Given the description of an element on the screen output the (x, y) to click on. 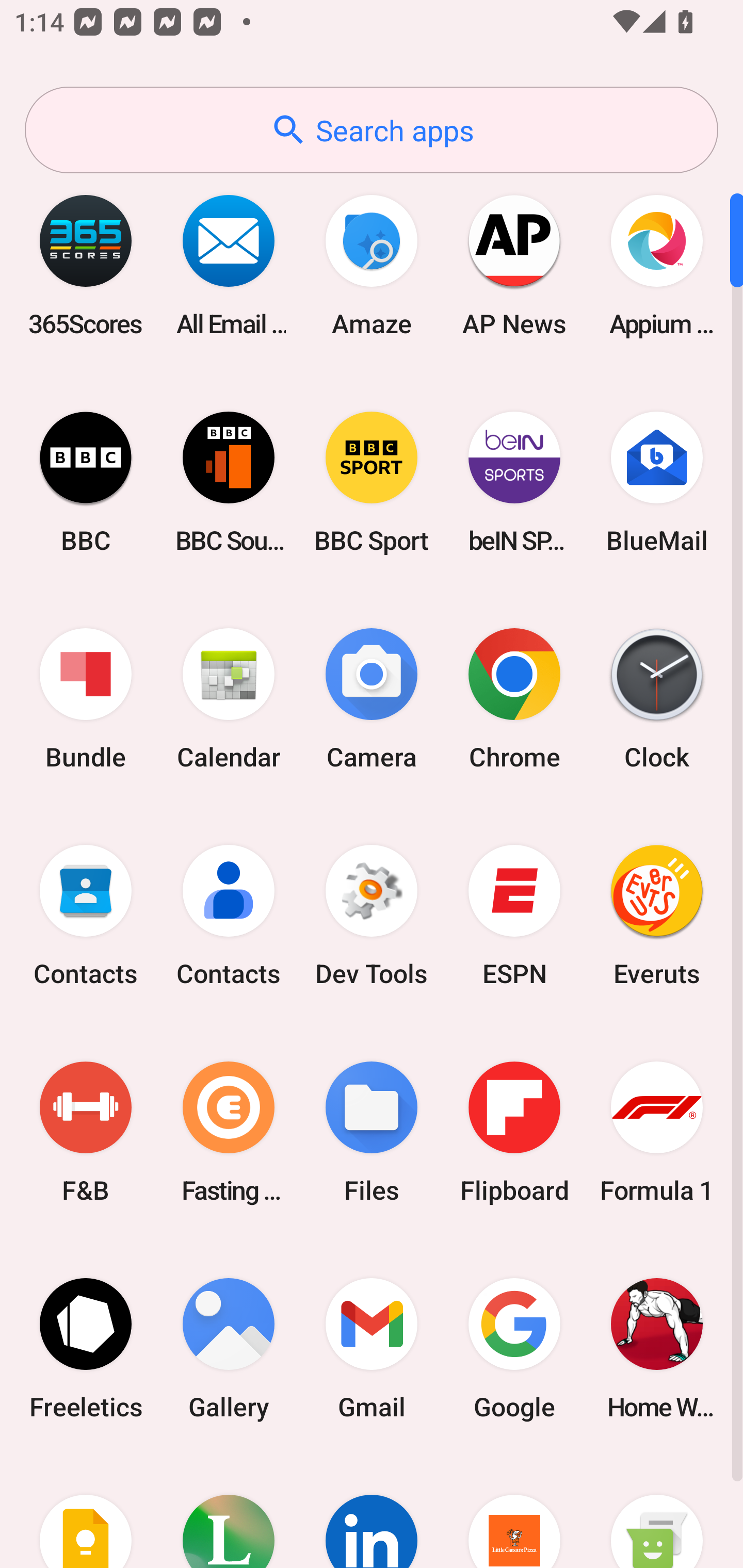
  Search apps (371, 130)
365Scores (85, 264)
All Email Connect (228, 264)
Amaze (371, 264)
AP News (514, 264)
Appium Settings (656, 264)
BBC (85, 482)
BBC Sounds (228, 482)
BBC Sport (371, 482)
beIN SPORTS (514, 482)
BlueMail (656, 482)
Bundle (85, 699)
Calendar (228, 699)
Camera (371, 699)
Chrome (514, 699)
Clock (656, 699)
Contacts (85, 915)
Contacts (228, 915)
Dev Tools (371, 915)
ESPN (514, 915)
Everuts (656, 915)
F&B (85, 1131)
Fasting Coach (228, 1131)
Files (371, 1131)
Flipboard (514, 1131)
Formula 1 (656, 1131)
Freeletics (85, 1348)
Gallery (228, 1348)
Gmail (371, 1348)
Google (514, 1348)
Home Workout (656, 1348)
Keep Notes (85, 1512)
Lifesum (228, 1512)
LinkedIn (371, 1512)
Little Caesars Pizza (514, 1512)
Messaging (656, 1512)
